Given the description of an element on the screen output the (x, y) to click on. 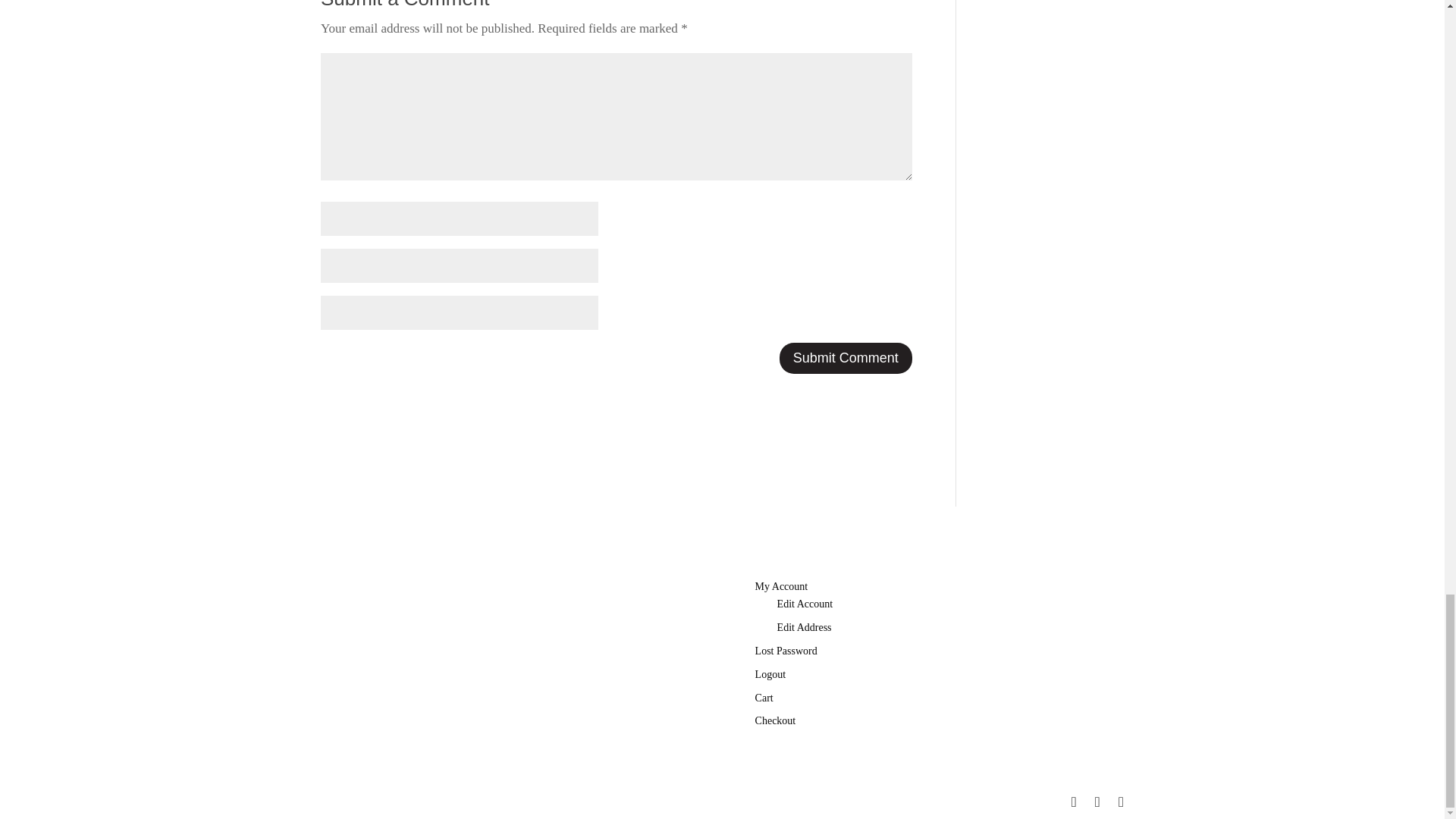
My Account (781, 586)
Checkout (775, 720)
Lost Password (785, 650)
Cart (764, 697)
Submit Comment (845, 358)
Edit Account (804, 603)
Submit Comment (845, 358)
Logout (770, 674)
Edit Address (804, 627)
